Given the description of an element on the screen output the (x, y) to click on. 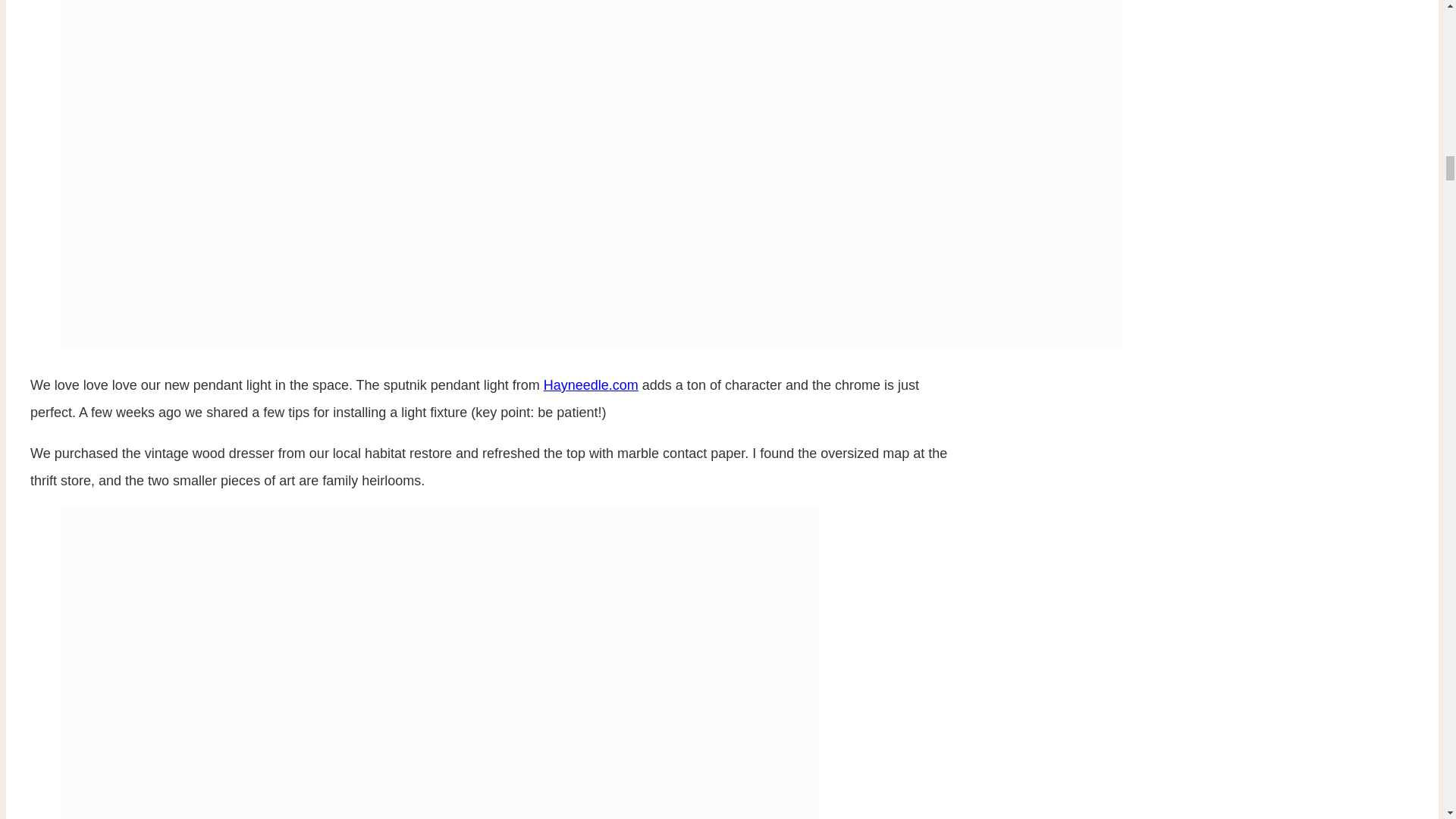
Hayneedle.com (591, 385)
